Given the description of an element on the screen output the (x, y) to click on. 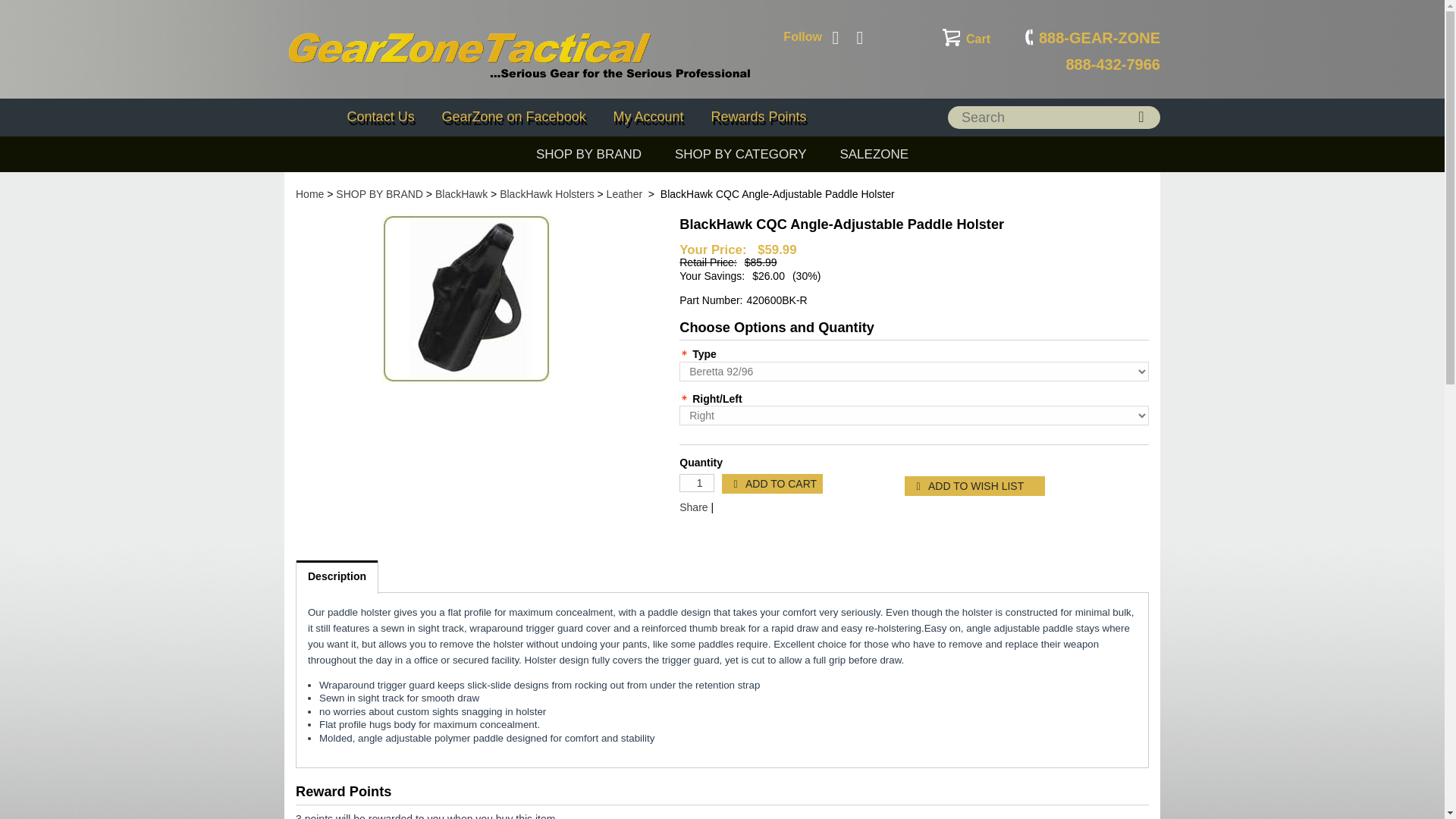
GearZone on Facebook (513, 117)
Rewards Points (758, 117)
Like Us on Facebook (835, 37)
Contact Us (380, 117)
Cart (966, 38)
ADD TO WISH LIST (974, 485)
BlackHawk Holsters (546, 193)
BlackHawk (461, 193)
SHOP BY BRAND (588, 154)
Home (309, 193)
SHOP BY BRAND (379, 193)
SHOP BY CATEGORY (740, 154)
SALEZONE (873, 154)
Follow Us on Twitter (1092, 50)
